Given the description of an element on the screen output the (x, y) to click on. 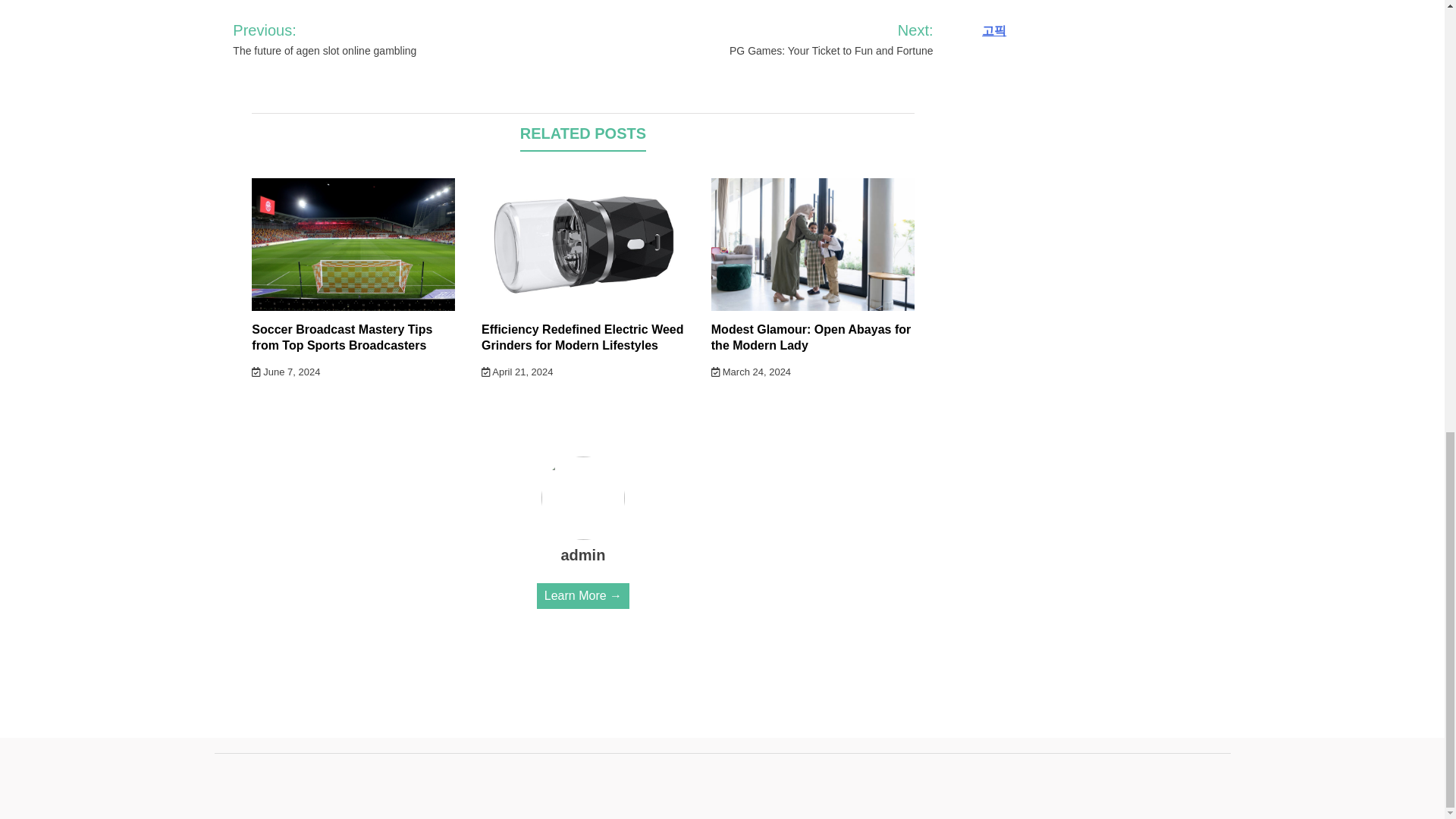
Soccer Broadcast Mastery Tips from Top Sports Broadcasters (341, 337)
Next: PG Games: Your Ticket to Fun and Fortune (811, 38)
Modest Glamour: Open Abayas for the Modern Lady (811, 337)
Previous: The future of agen slot online gambling (357, 38)
June 7, 2024 (285, 371)
March 24, 2024 (750, 371)
April 21, 2024 (517, 371)
